Given the description of an element on the screen output the (x, y) to click on. 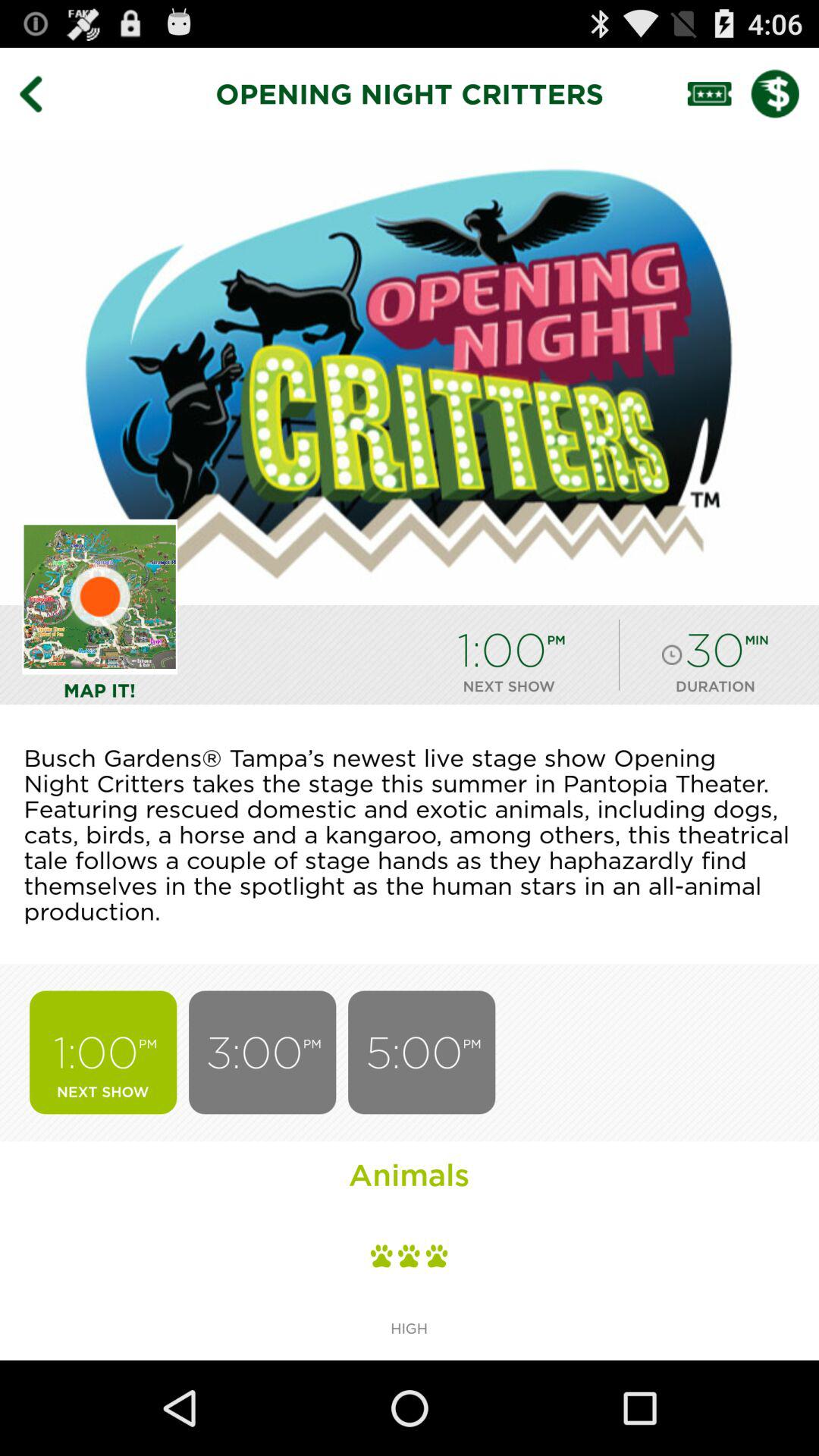
select item to the left of opening night critters icon (41, 93)
